Given the description of an element on the screen output the (x, y) to click on. 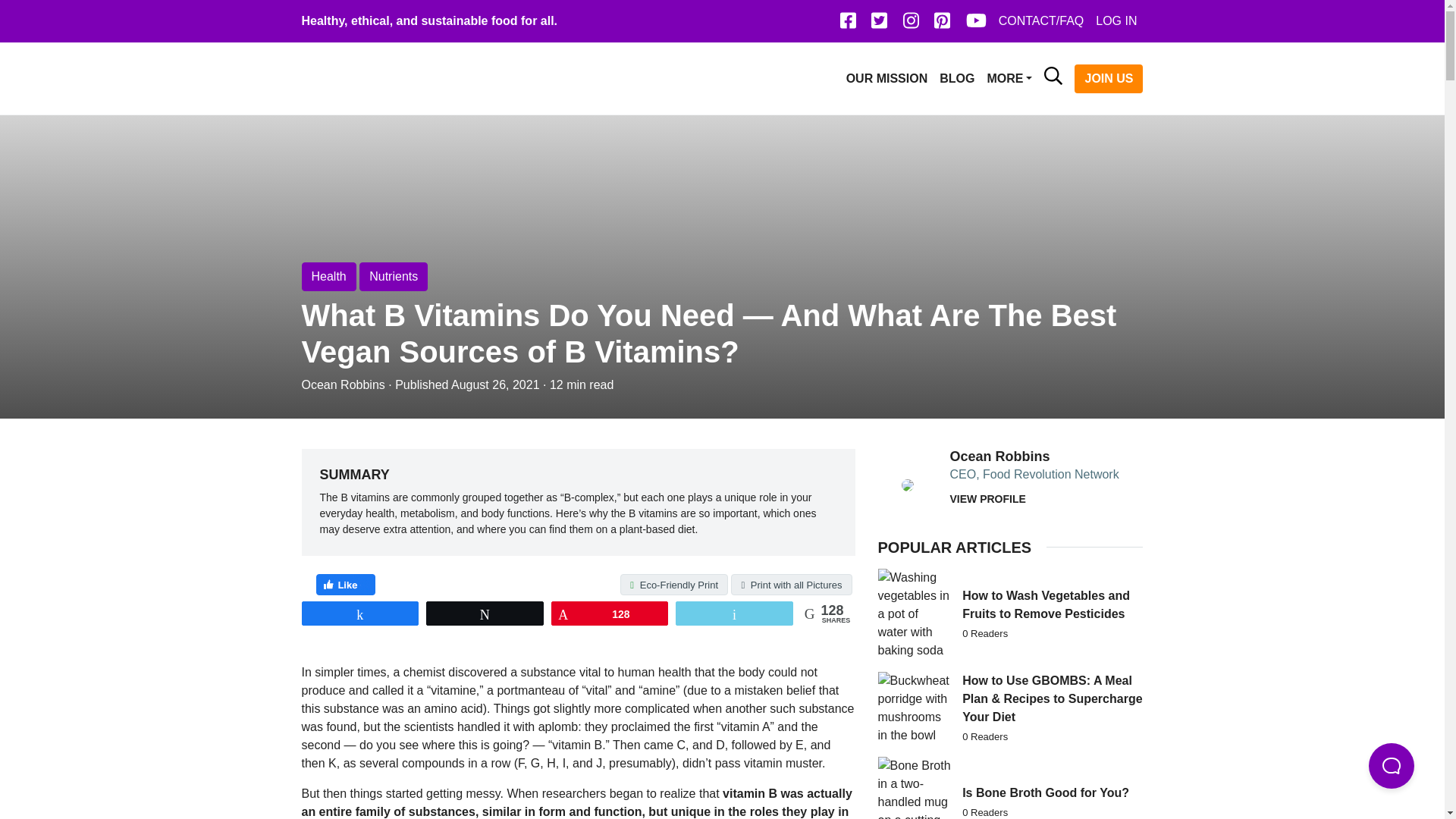
Instagram (910, 24)
JOIN US (1108, 77)
Our Mission (887, 78)
Healthy, ethical, and sustainable food for all. (429, 20)
YoutTube (975, 24)
LOG IN (1115, 20)
Twitter (878, 24)
Food Revolution Network (373, 77)
Pinterest (942, 24)
OUR MISSION (887, 78)
